Given the description of an element on the screen output the (x, y) to click on. 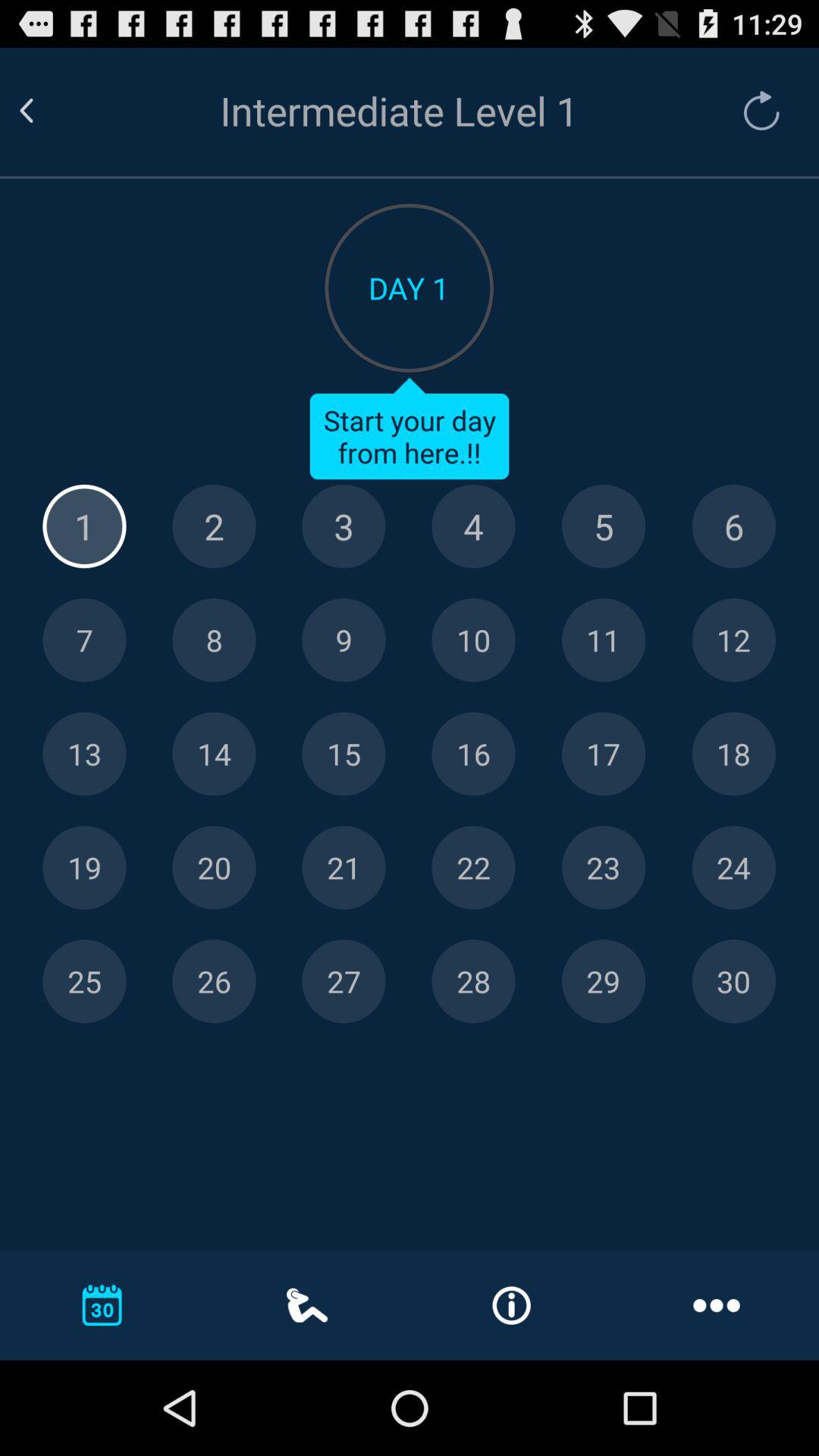
select the number (343, 639)
